Given the description of an element on the screen output the (x, y) to click on. 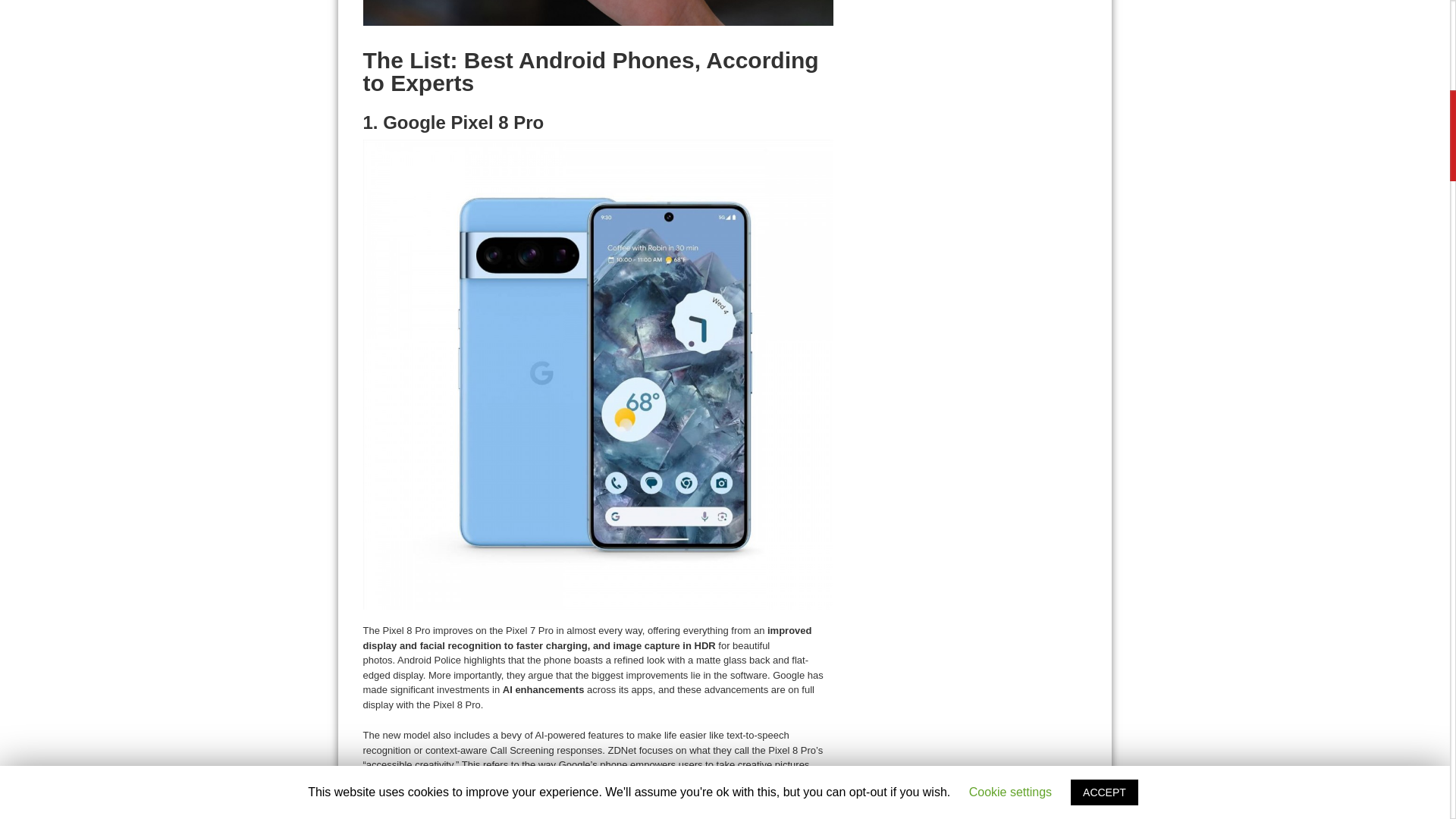
Scroll To Top (1427, 60)
